Given the description of an element on the screen output the (x, y) to click on. 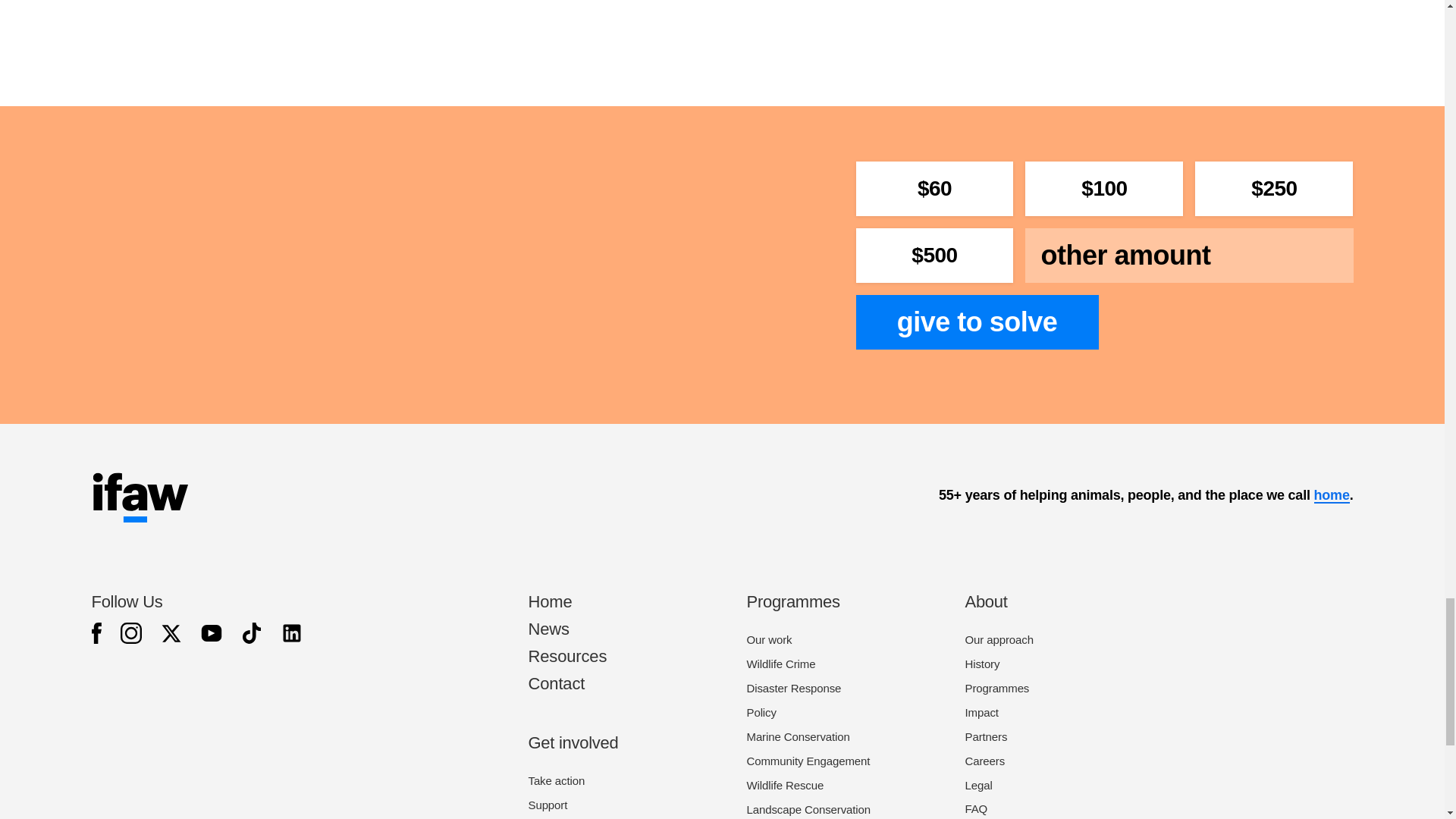
Resources (567, 656)
Take action (556, 780)
News (548, 628)
home (1331, 495)
give to solve (976, 321)
Support (547, 804)
Home (549, 601)
